Given the description of an element on the screen output the (x, y) to click on. 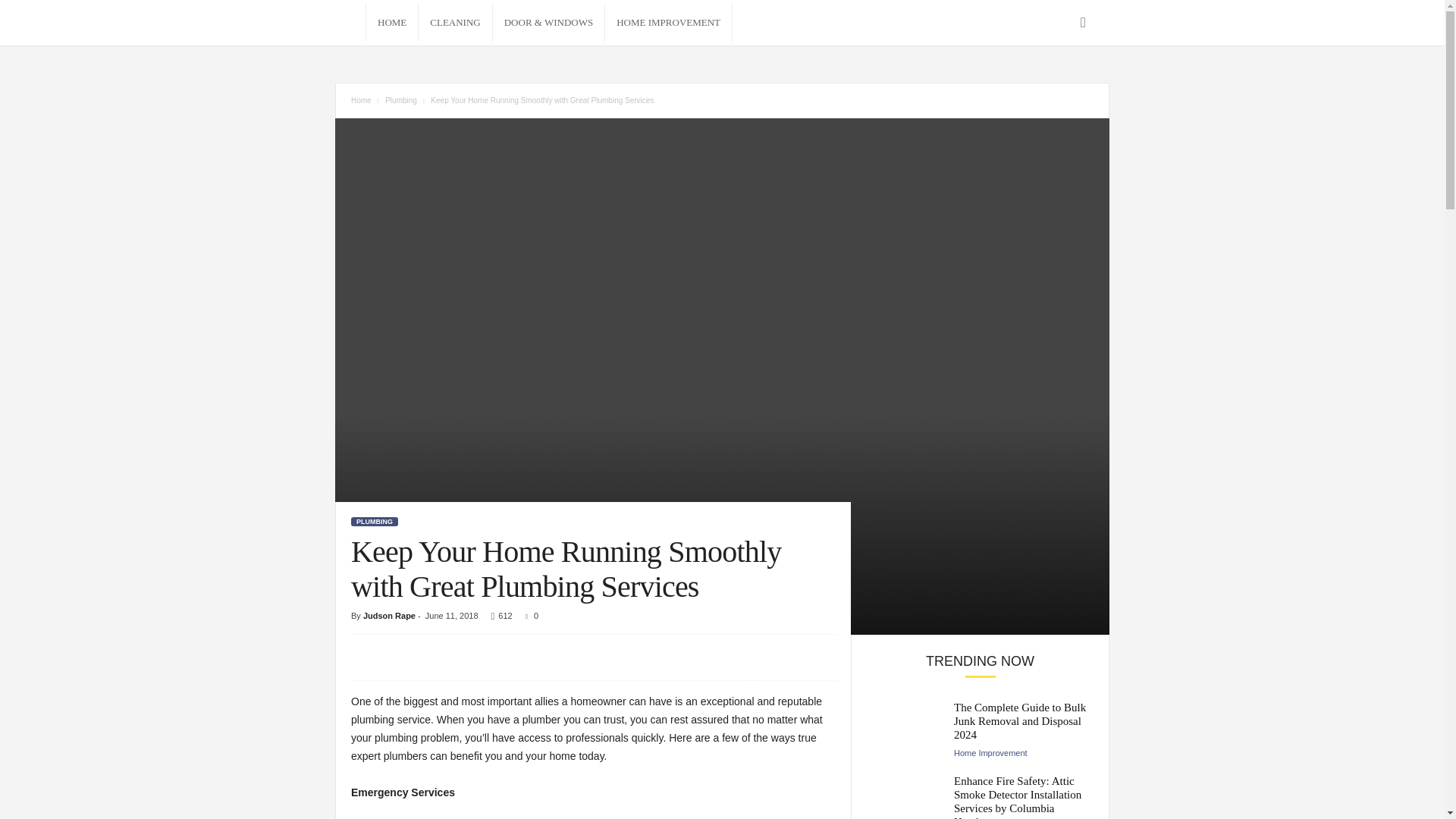
CLEANING (455, 22)
Judson Rape (388, 614)
Home (360, 100)
HOME IMPROVEMENT (668, 22)
PLUMBING (373, 521)
HOME (391, 22)
Plumbing (400, 100)
View all posts in Plumbing (400, 100)
0 (528, 614)
